Given the description of an element on the screen output the (x, y) to click on. 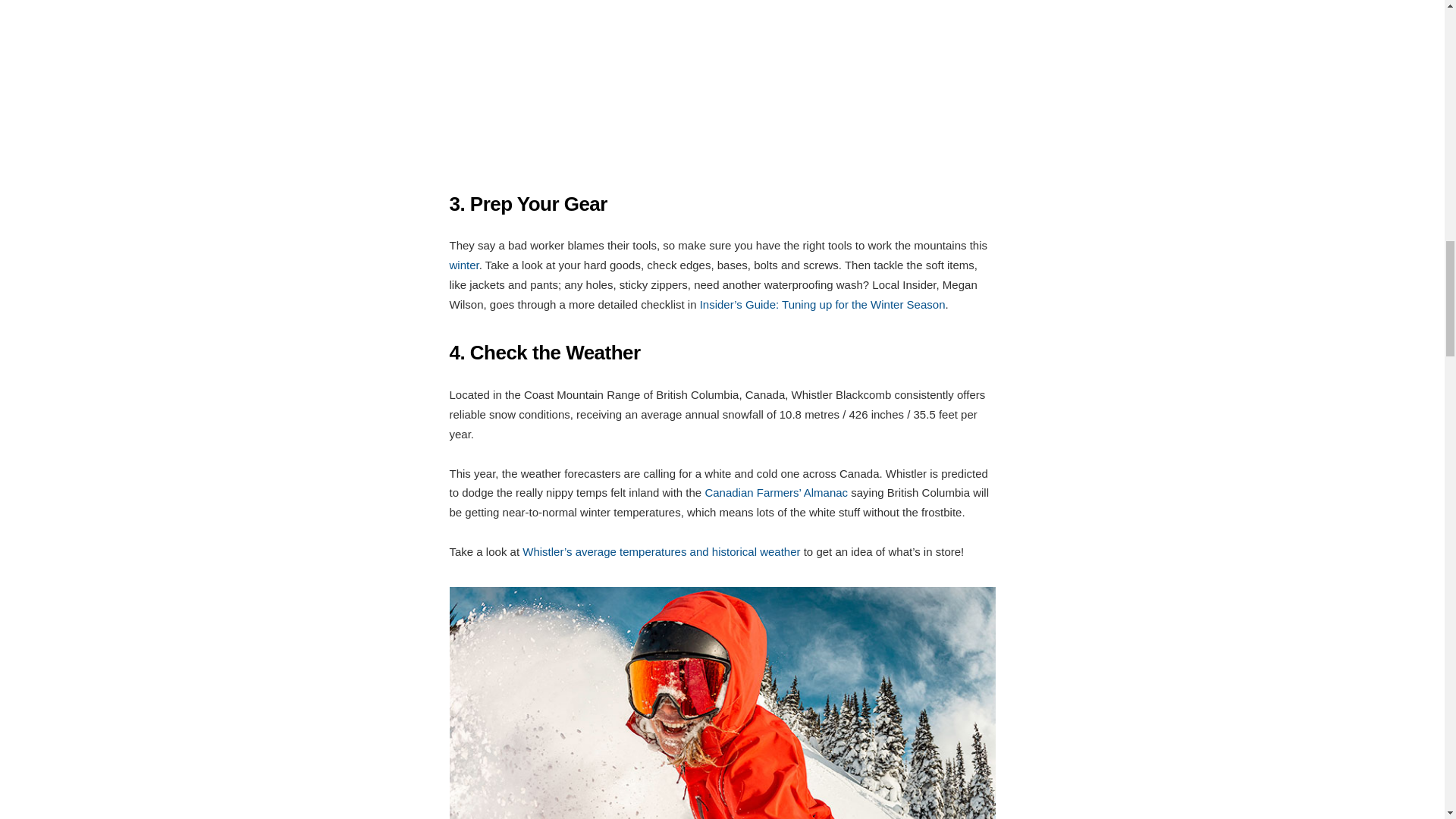
YouTube video player (721, 83)
winter (463, 264)
